Given the description of an element on the screen output the (x, y) to click on. 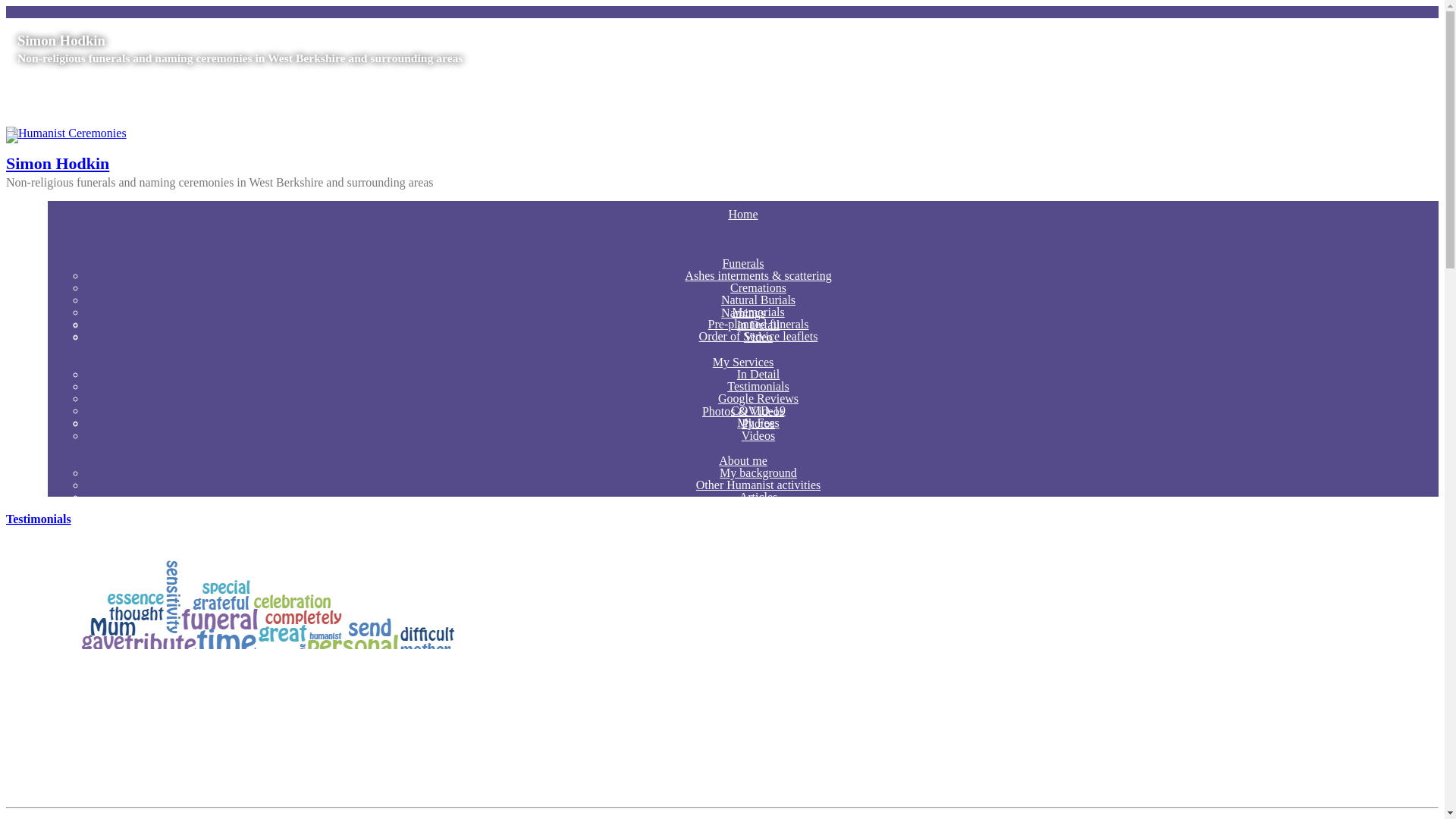
Cremations (758, 287)
Photos (757, 422)
Pre-planned funerals (758, 323)
Other Humanist activities (758, 484)
Videos (757, 435)
Natural Burials (757, 299)
Order of Service leaflets (758, 336)
Video (758, 336)
In Detail (757, 324)
Testimonials (757, 386)
